Given the description of an element on the screen output the (x, y) to click on. 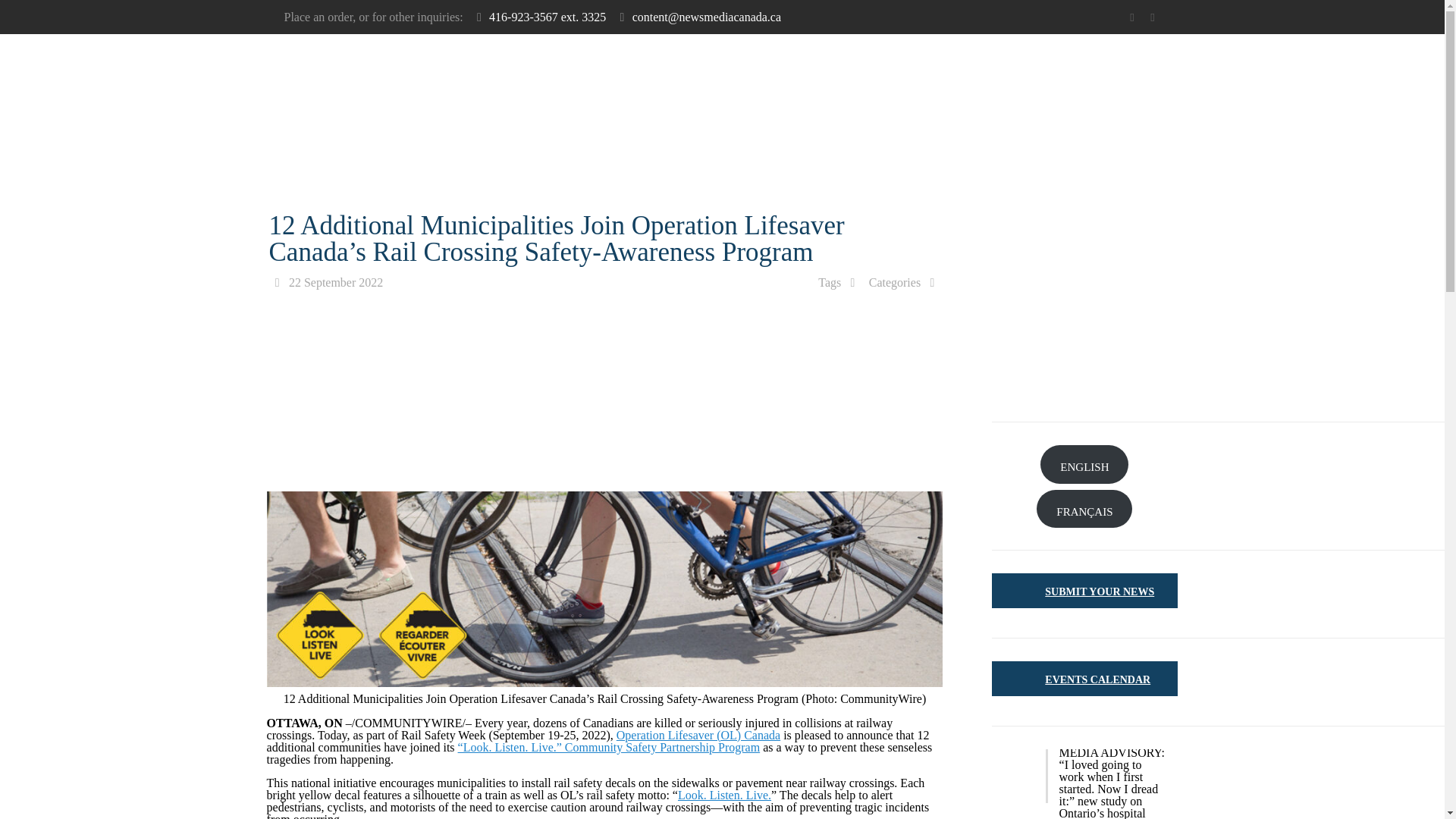
Twitter (1132, 17)
416-923-3567 ext. 3325 (547, 16)
SUBMIT YOUR NEWS (1099, 591)
RSS (1152, 17)
Look. Listen. Live. (724, 794)
ENGLISH (1084, 464)
